Given the description of an element on the screen output the (x, y) to click on. 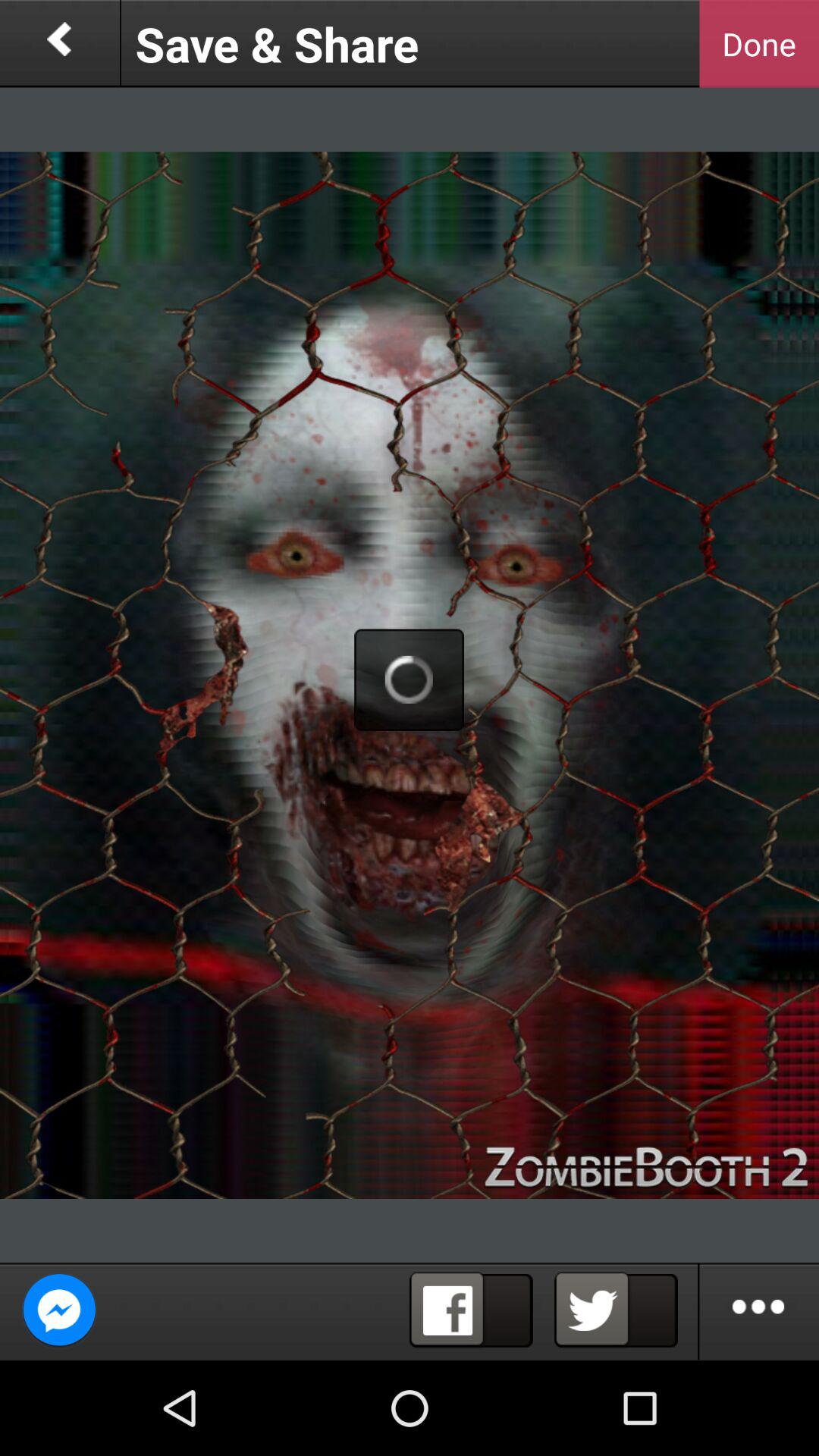
go to previous (59, 43)
